Given the description of an element on the screen output the (x, y) to click on. 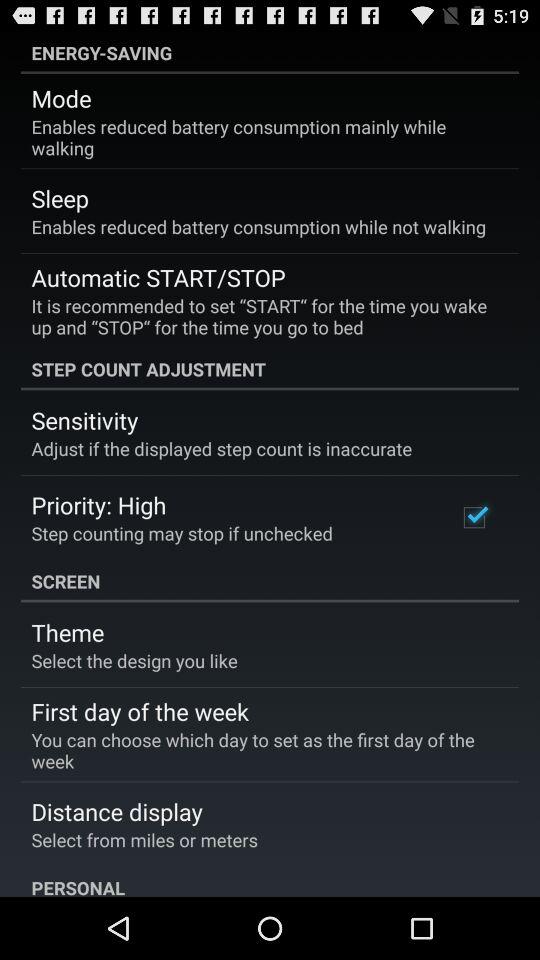
select icon below select from miles item (270, 881)
